Given the description of an element on the screen output the (x, y) to click on. 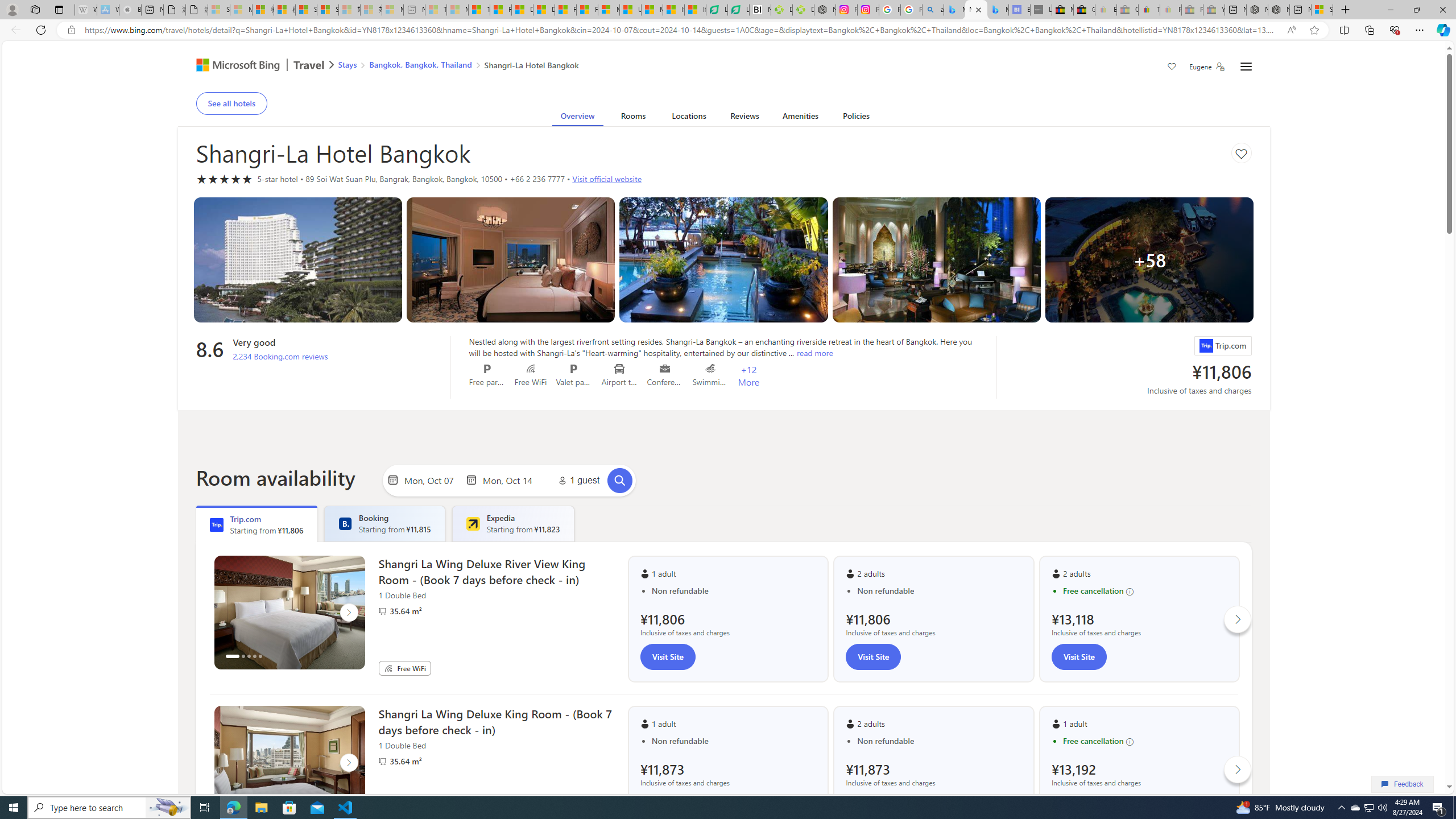
Yard, Garden & Outdoor Living - Sleeping (1214, 9)
Microsoft Services Agreement - Sleeping (241, 9)
Class: msft-travel-logo (308, 64)
Microsoft Bing (232, 65)
Visit Site (1078, 656)
Amenities (800, 118)
Valet parking (574, 368)
AutomationID: bread-crumb-root (451, 66)
